Given the description of an element on the screen output the (x, y) to click on. 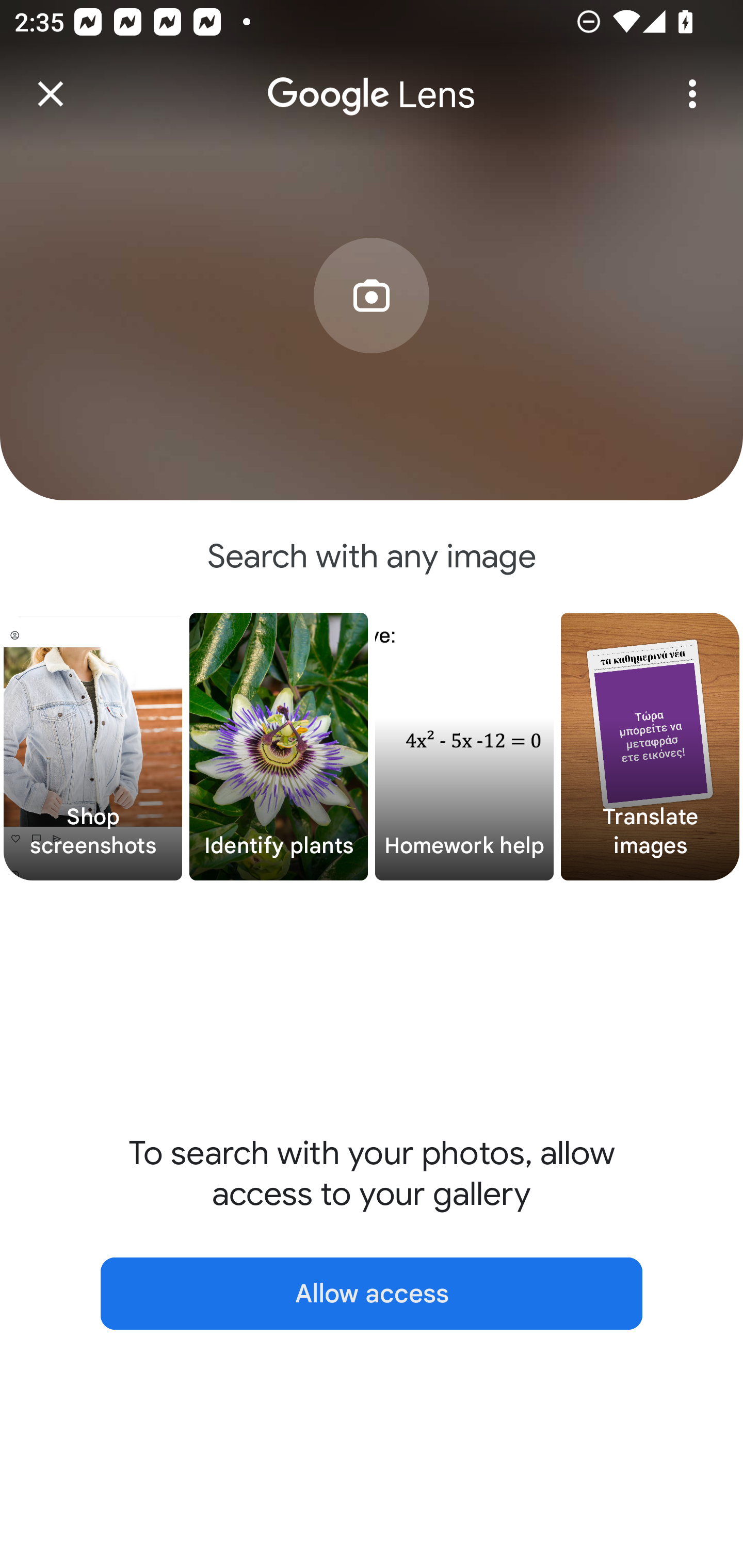
Google Lens Lens (371, 80)
Close (50, 94)
More options (692, 94)
Search with your camera (371, 326)
Shop screenshots (92, 747)
Identify plants (278, 747)
Homework help (464, 747)
Translate images (649, 747)
Allow access (371, 1293)
